Given the description of an element on the screen output the (x, y) to click on. 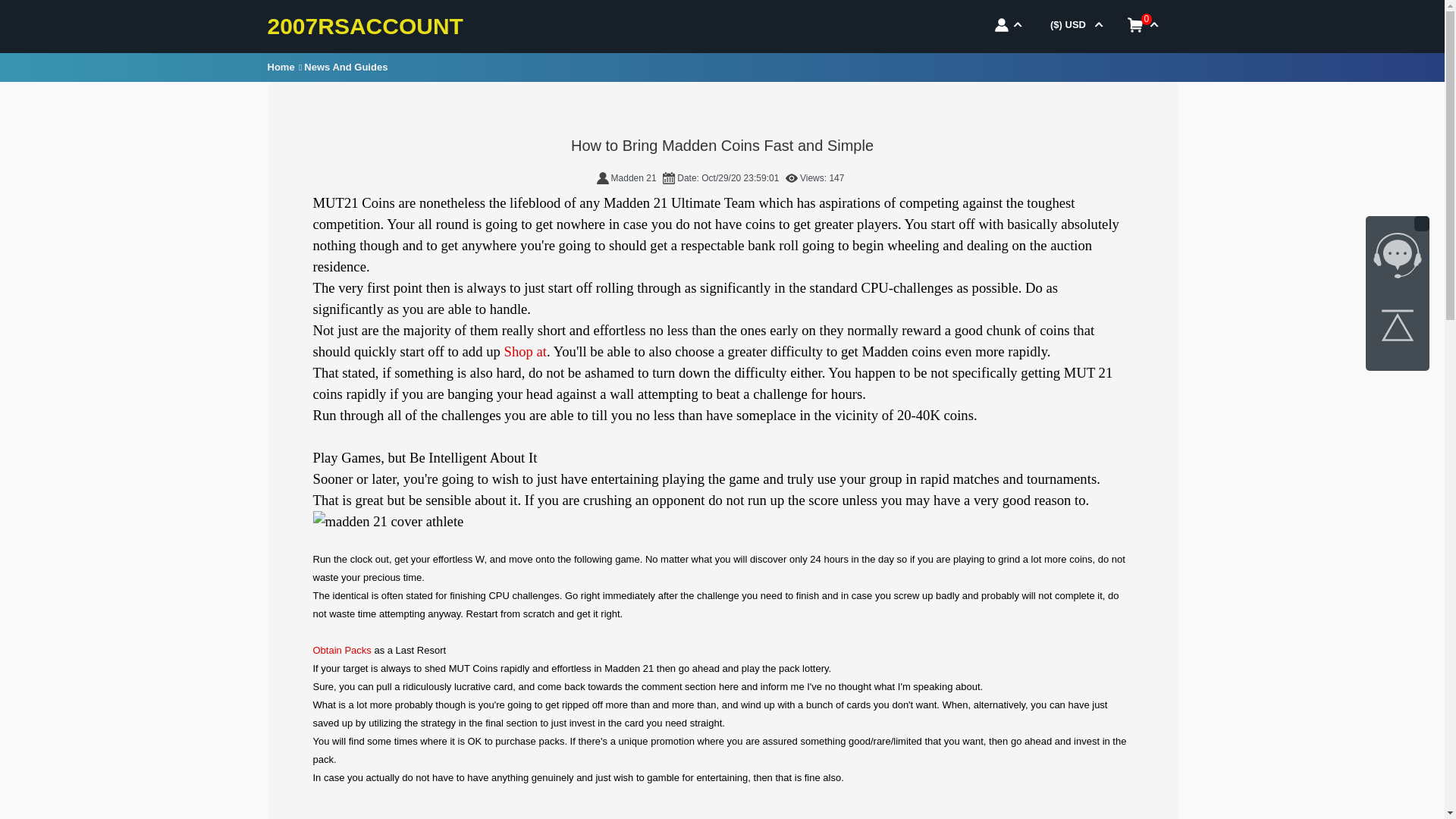
go page top Element type: hover (1397, 328)
0 Element type: text (1141, 22)
Obtain Packs Element type: text (341, 649)
News And Guides Element type: text (347, 66)
Shop at Element type: text (525, 351)
Home Element type: text (282, 66)
2007RSACCOUNT Element type: text (364, 26)
($) USD Element type: text (1073, 22)
7x24 online livechat Element type: hover (1397, 258)
